Given the description of an element on the screen output the (x, y) to click on. 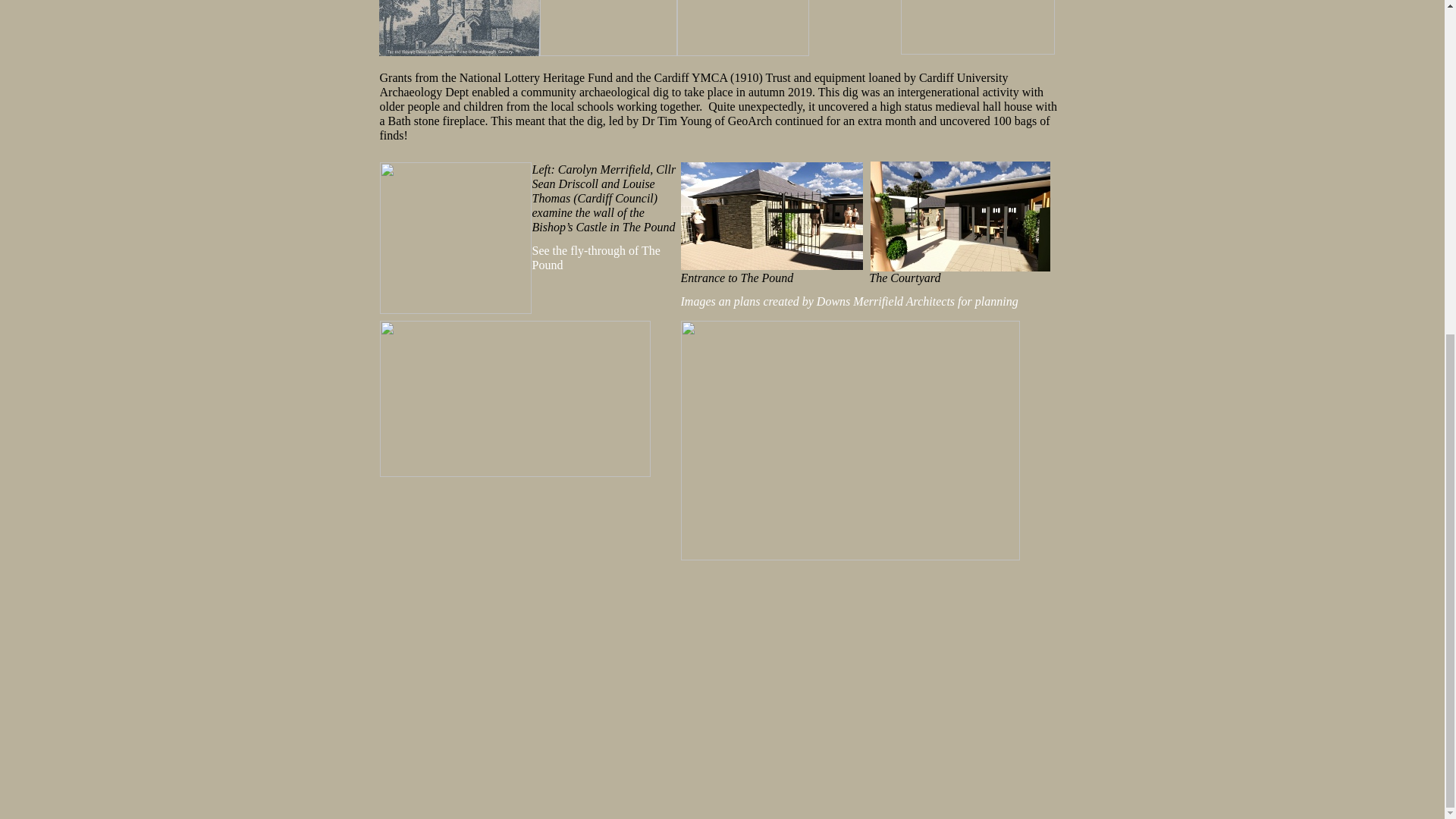
See the fly-through of The Pound (596, 257)
